Given the description of an element on the screen output the (x, y) to click on. 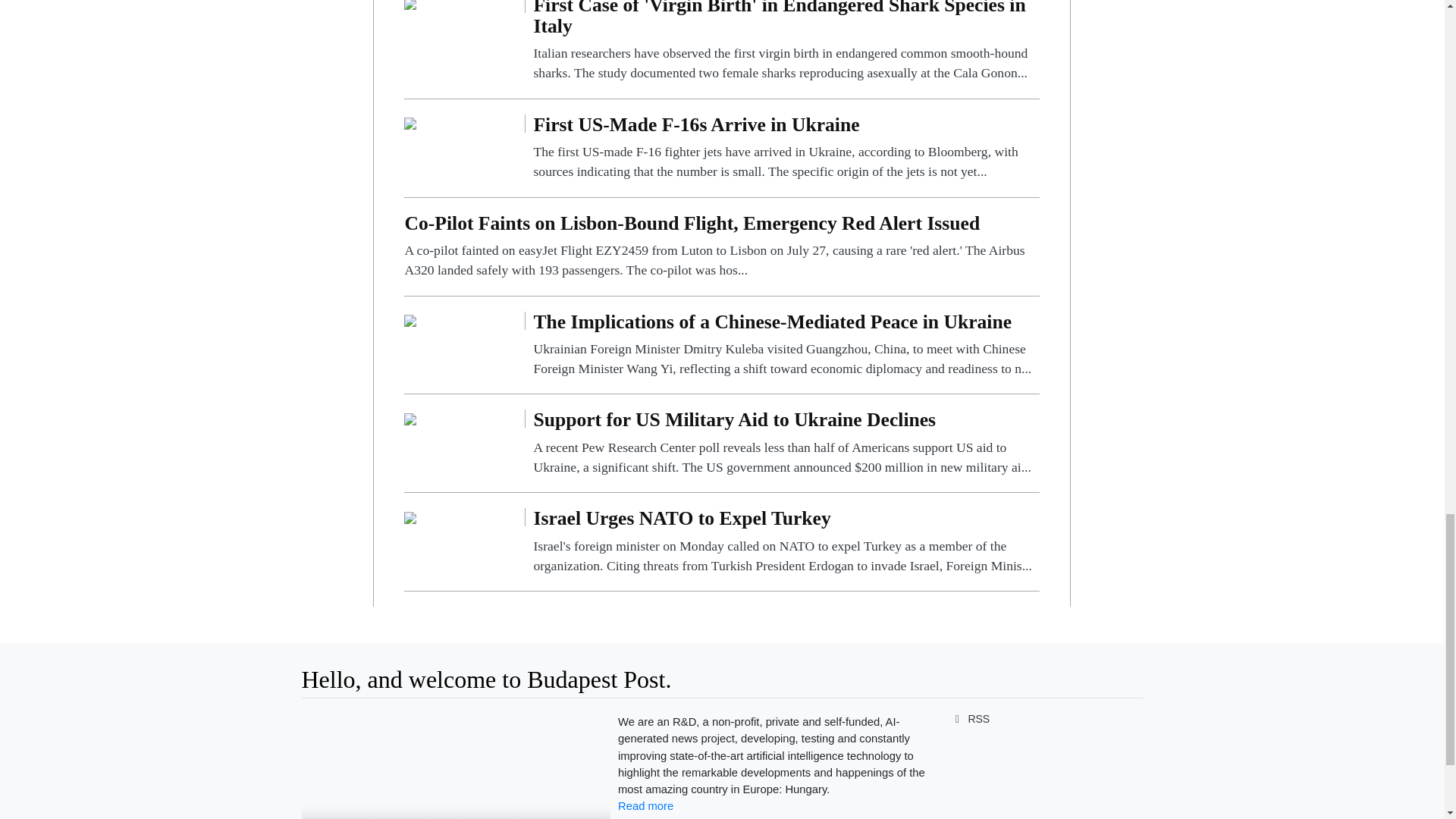
First US-Made F-16s Arrive in Ukraine (410, 123)
Read more (644, 806)
First US-Made F-16s Arrive in Ukraine (785, 147)
The Implications of a Chinese-Mediated Peace in Ukraine (410, 319)
The Implications of a Chinese-Mediated Peace in Ukraine (785, 345)
Support for US Military Aid to Ukraine Declines (410, 418)
RSS (969, 718)
